Given the description of an element on the screen output the (x, y) to click on. 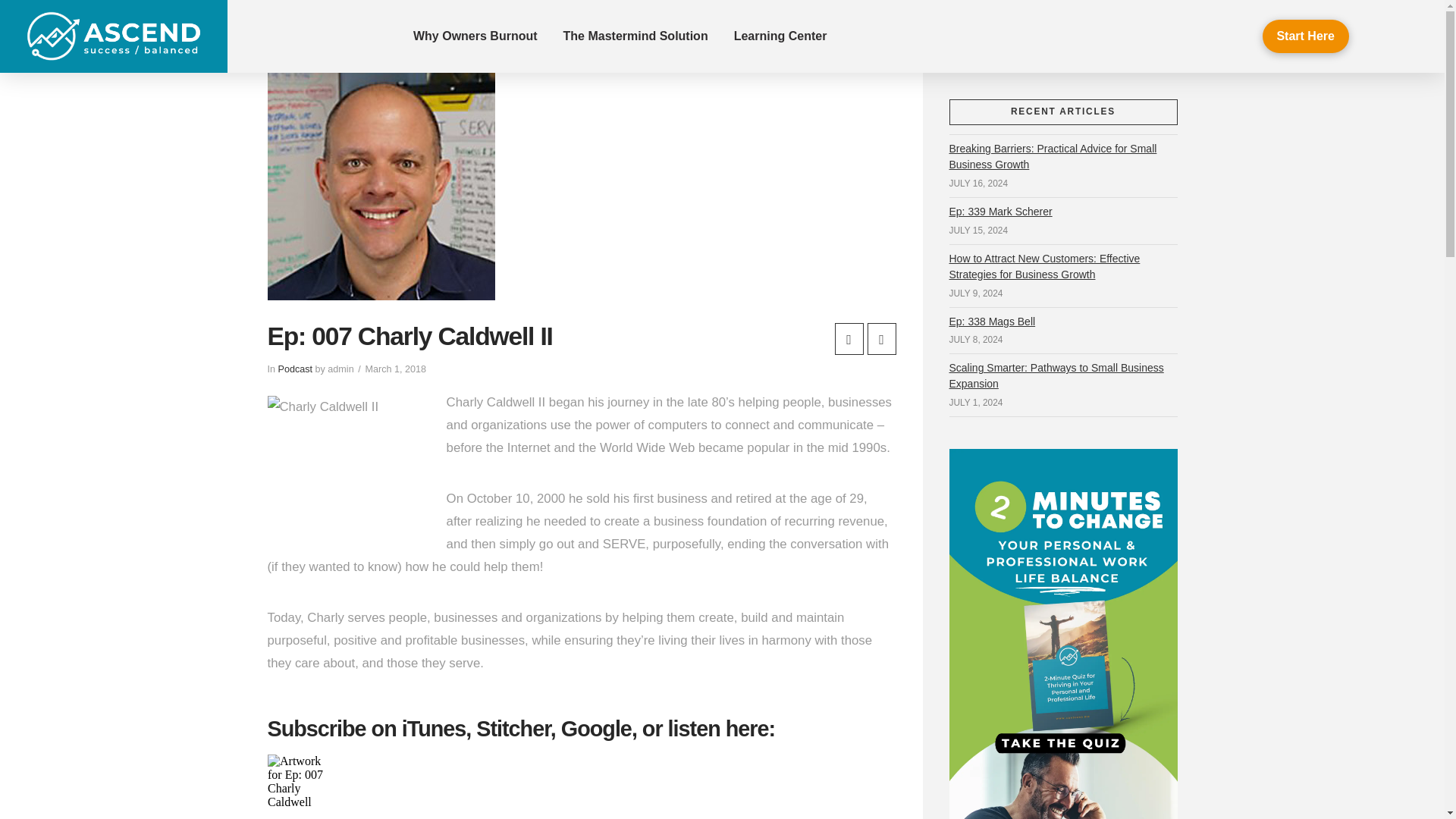
Google (595, 728)
Ep: 338 Mags Bell (992, 321)
Stitcher (513, 728)
Ep: 339 Mark Scherer (1000, 211)
Learning Center (780, 36)
Why Owners Burnout (475, 36)
Start Here (1305, 36)
Scaling Smarter: Pathways to Small Business Expansion (1056, 375)
Podcast (295, 368)
iTunes (433, 728)
The Mastermind Solution (635, 36)
